Given the description of an element on the screen output the (x, y) to click on. 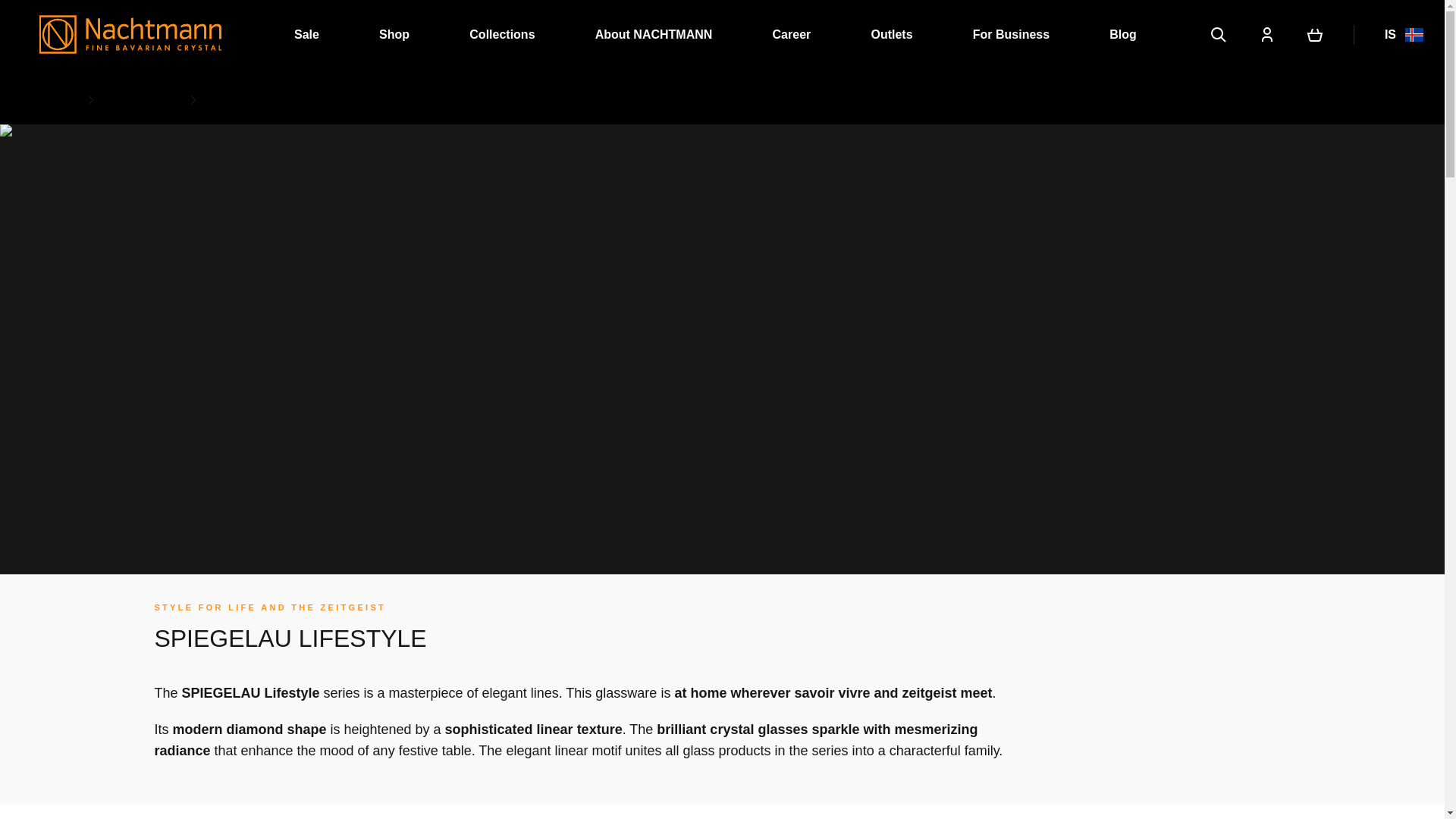
Search (1218, 34)
NACHTMANN - Fine Bavarian Crystal (130, 34)
Career (791, 34)
Blog (1123, 34)
About NACHTMANN (654, 34)
Collections (501, 34)
Home (55, 99)
Select country: IS (1394, 34)
Sale (306, 34)
Outlets (891, 34)
MyNACHTMANN (1266, 34)
For Business (1010, 34)
Shop (393, 34)
Go to shopping cart (1314, 33)
Collections (141, 99)
